Given the description of an element on the screen output the (x, y) to click on. 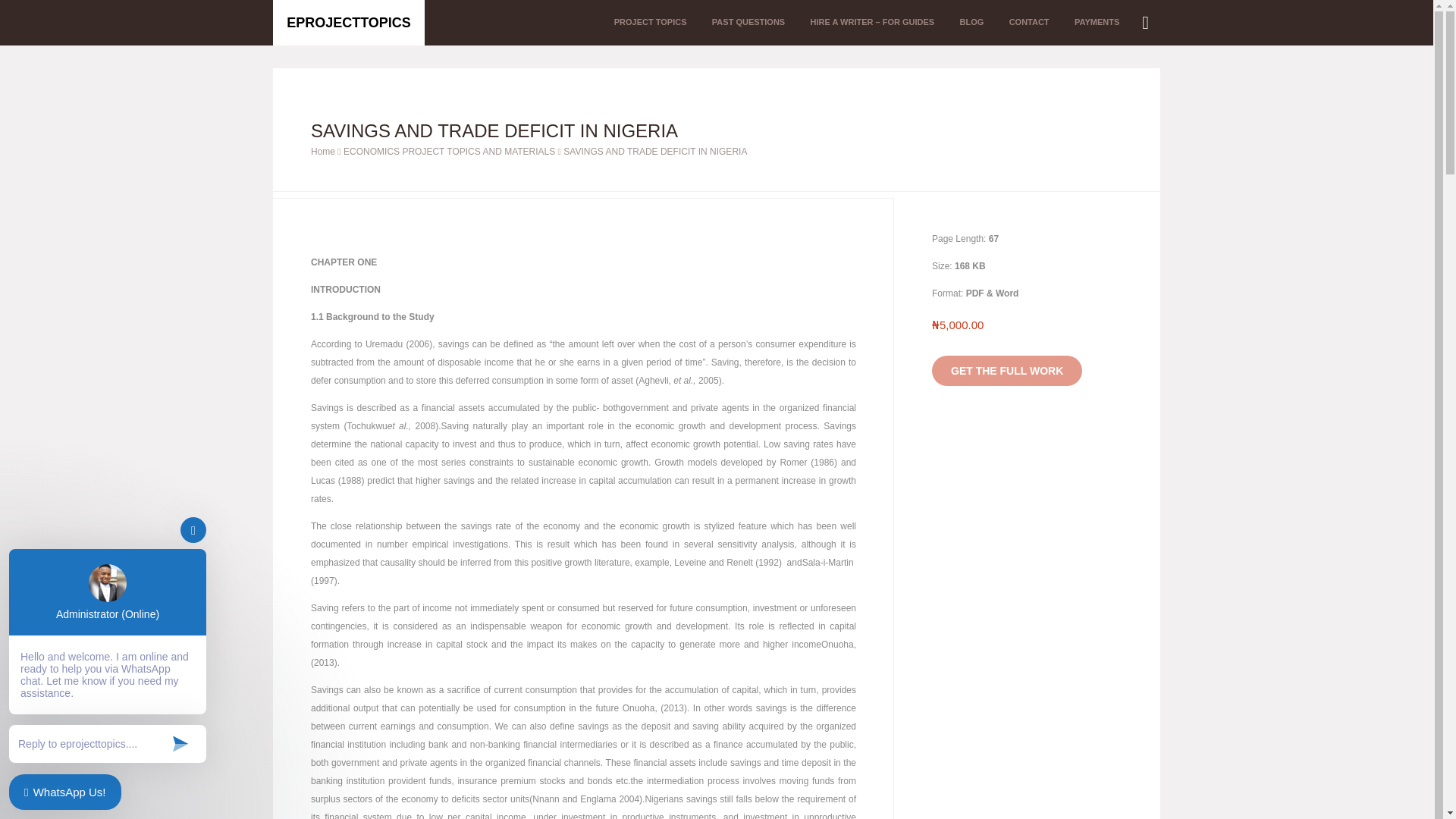
PAST QUESTIONS (748, 22)
ECONOMICS PROJECT TOPICS AND MATERIALS (448, 151)
EPROJECTTOPICS (349, 23)
GET THE FULL WORK (1006, 370)
BLOG (970, 22)
CONTACT (1029, 22)
Home (322, 151)
PROJECT TOPICS (650, 22)
PAYMENTS (1096, 22)
